Given the description of an element on the screen output the (x, y) to click on. 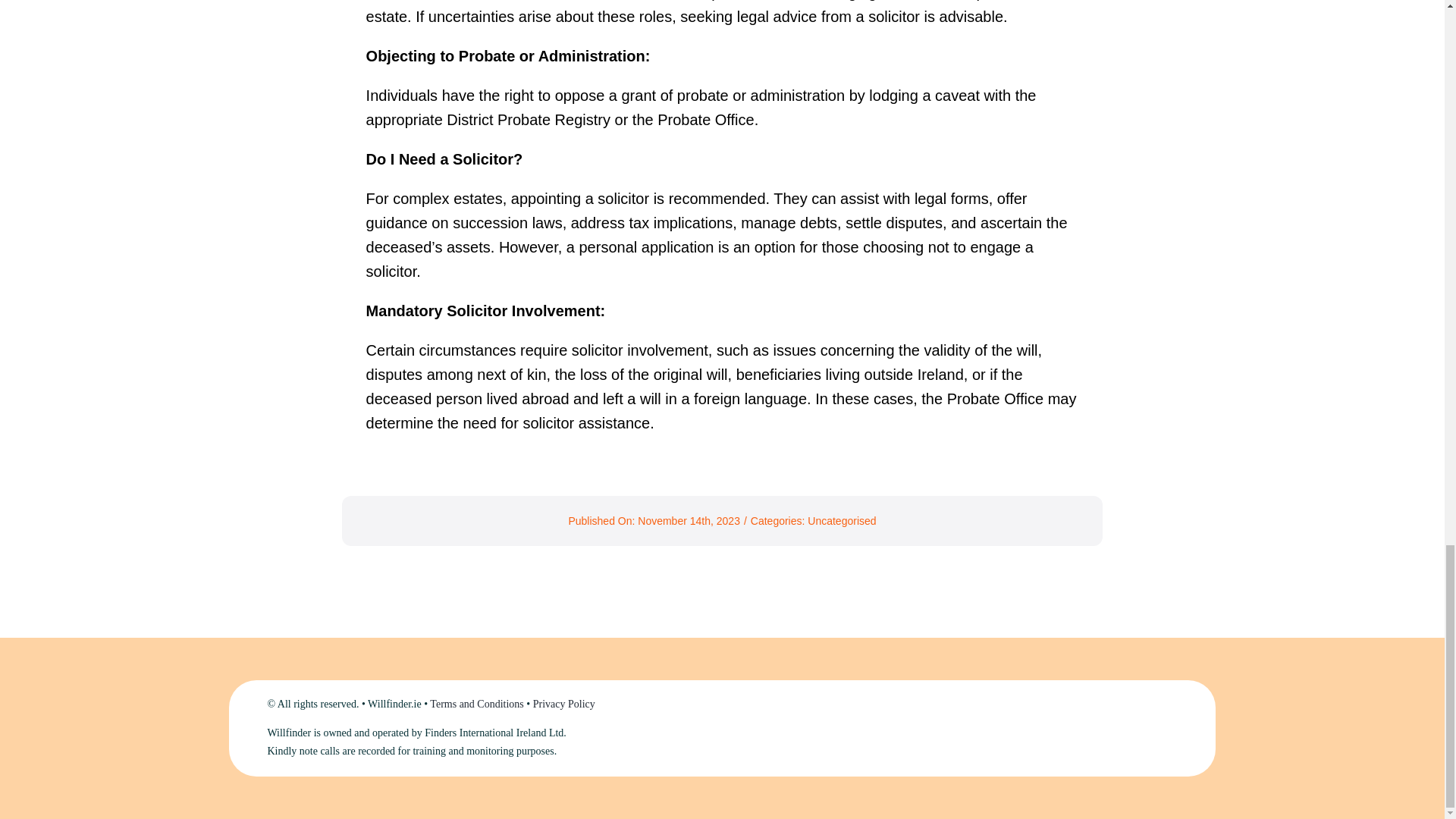
Terms and Conditions (475, 704)
6220ac4b912013c51947f9c5 (1101, 727)
Uncategorised (842, 521)
Privacy Policy (563, 704)
